Given the description of an element on the screen output the (x, y) to click on. 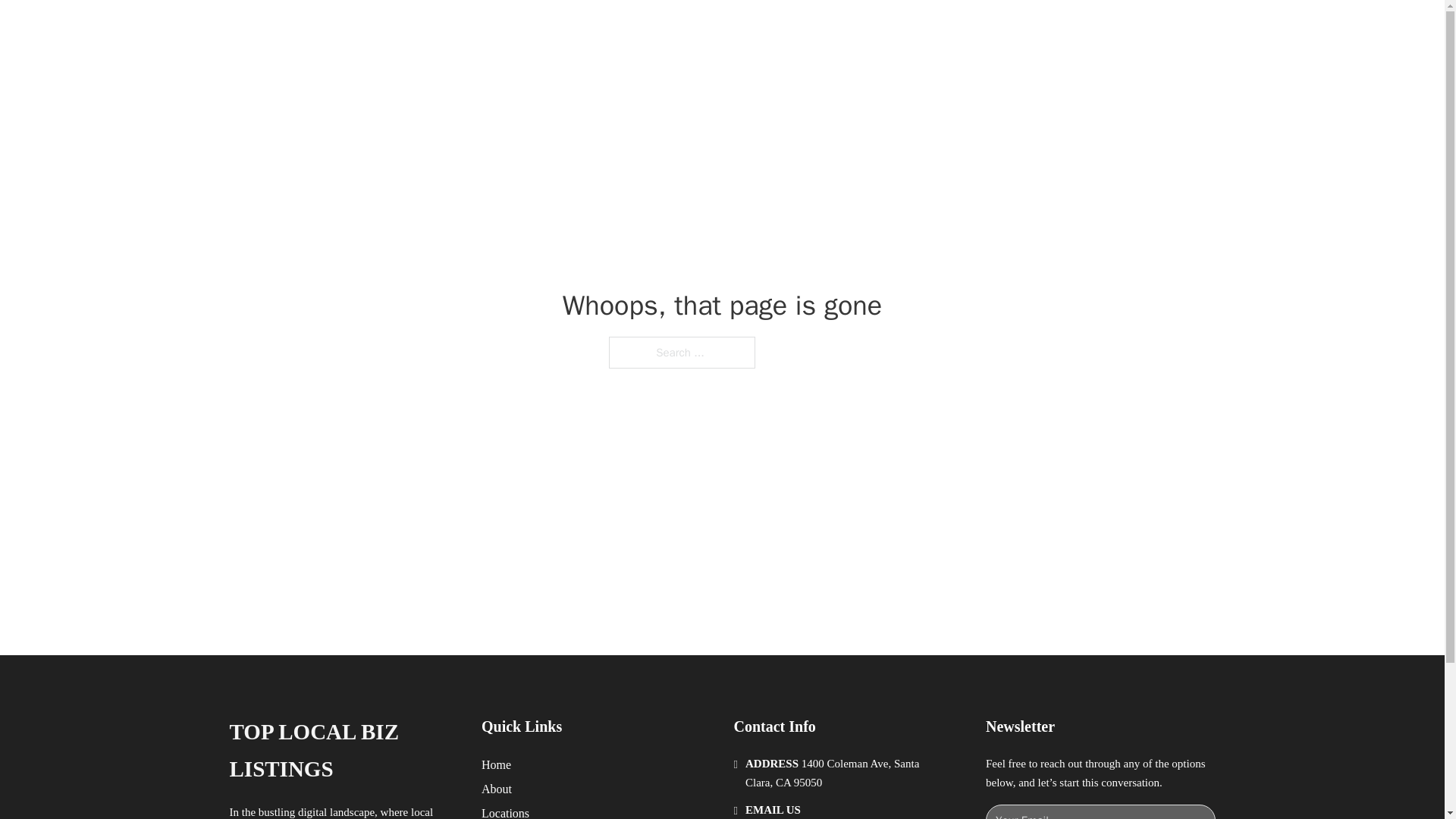
About (496, 788)
TOP LOCAL BIZ LISTINGS (432, 28)
Home (496, 764)
Locations (505, 811)
TOP LOCAL BIZ LISTINGS (343, 750)
